Given the description of an element on the screen output the (x, y) to click on. 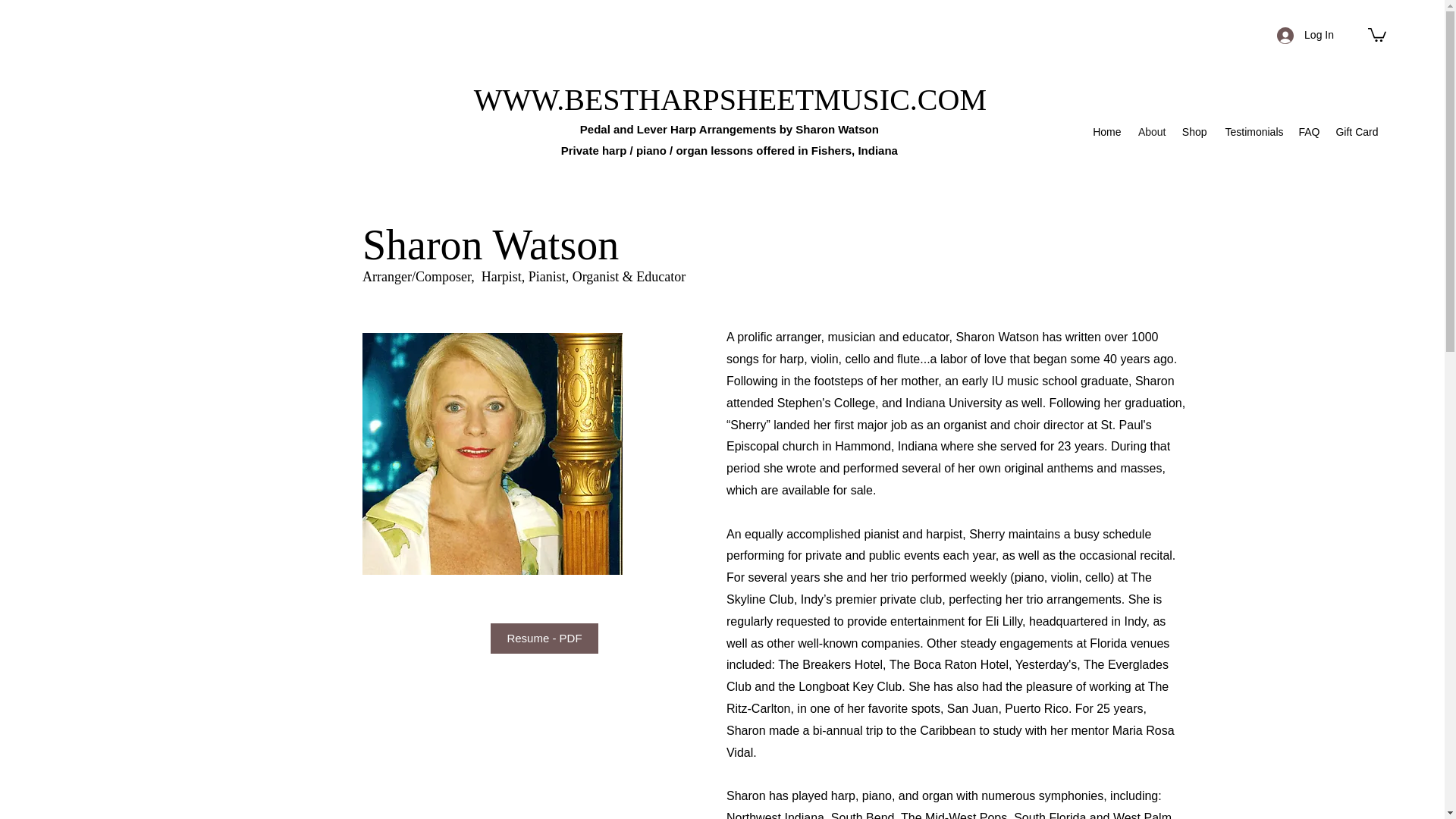
Testimonials (1252, 131)
Home (1106, 131)
Log In (1304, 35)
WWW.BESTHARPSHEETMUSIC.COM  (734, 99)
Gift Card (1355, 131)
Resume - PDF (544, 638)
About (1150, 131)
FAQ (1307, 131)
Shop (1193, 131)
